Given the description of an element on the screen output the (x, y) to click on. 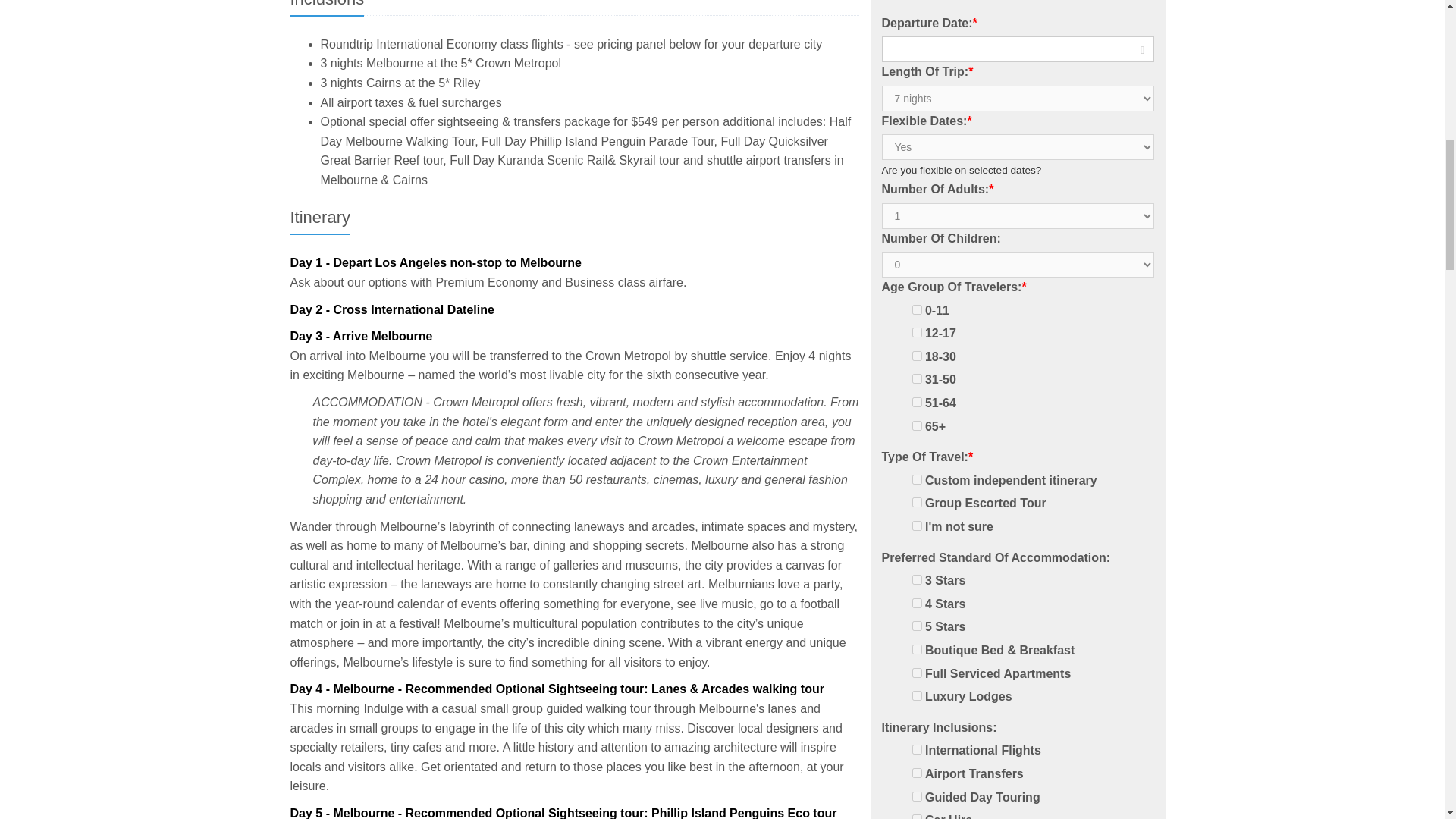
51-64 (916, 402)
I'm not sure (916, 525)
18-30 (916, 356)
Custom independent itinerary (1010, 480)
Group Escorted Tour (916, 501)
5 Stars (916, 625)
31-50 (916, 378)
Group Escorted Tour (985, 503)
12-17 (916, 332)
0-11 (916, 309)
